Given the description of an element on the screen output the (x, y) to click on. 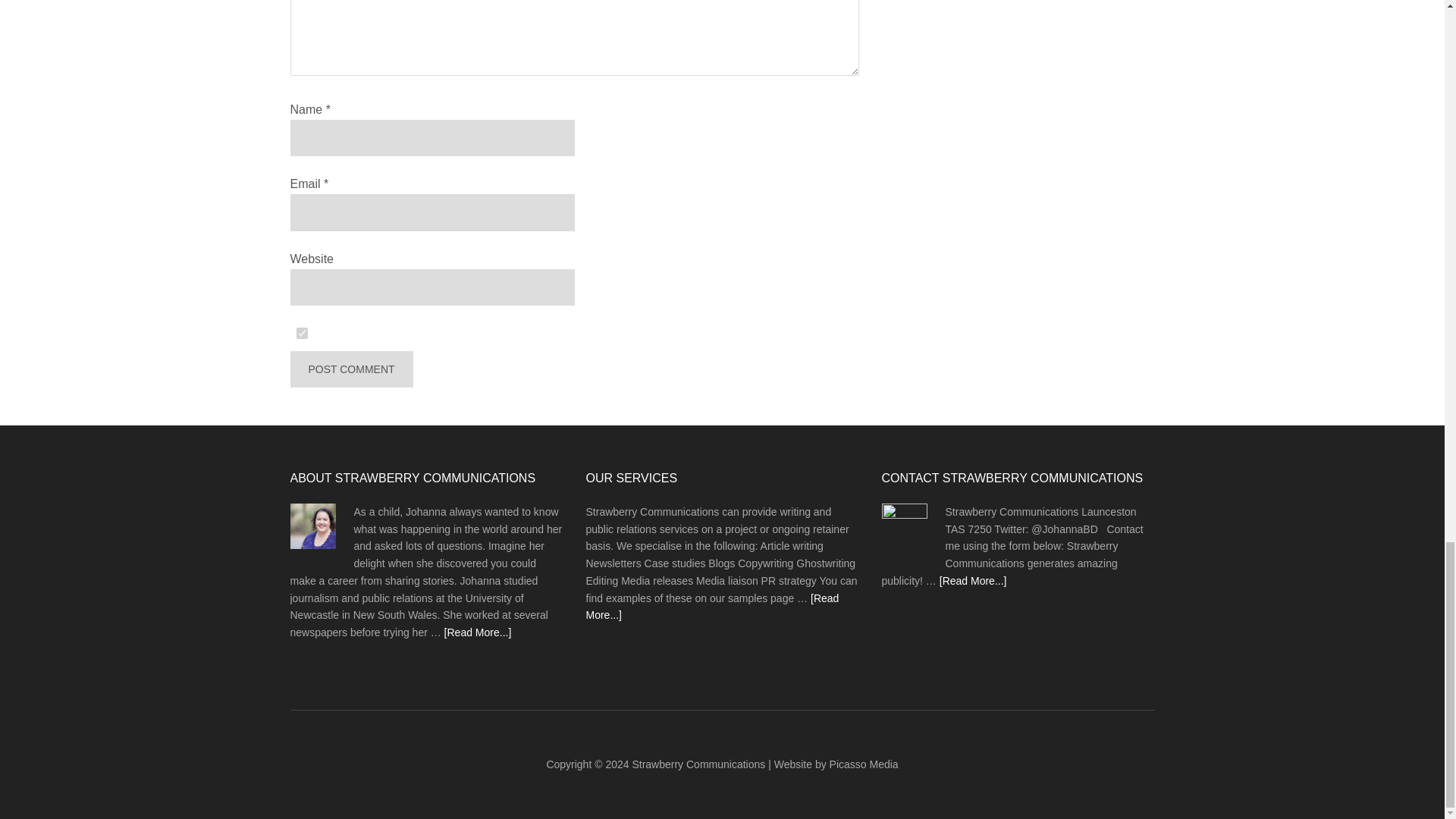
Post Comment (350, 369)
on (302, 333)
small business website design (863, 764)
Post Comment (350, 369)
